Given the description of an element on the screen output the (x, y) to click on. 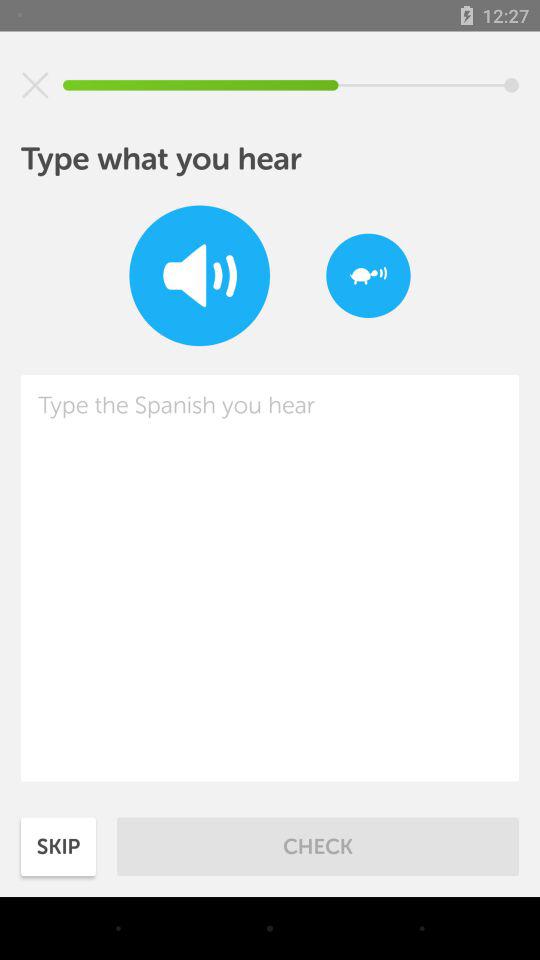
toggle sound (199, 275)
